Given the description of an element on the screen output the (x, y) to click on. 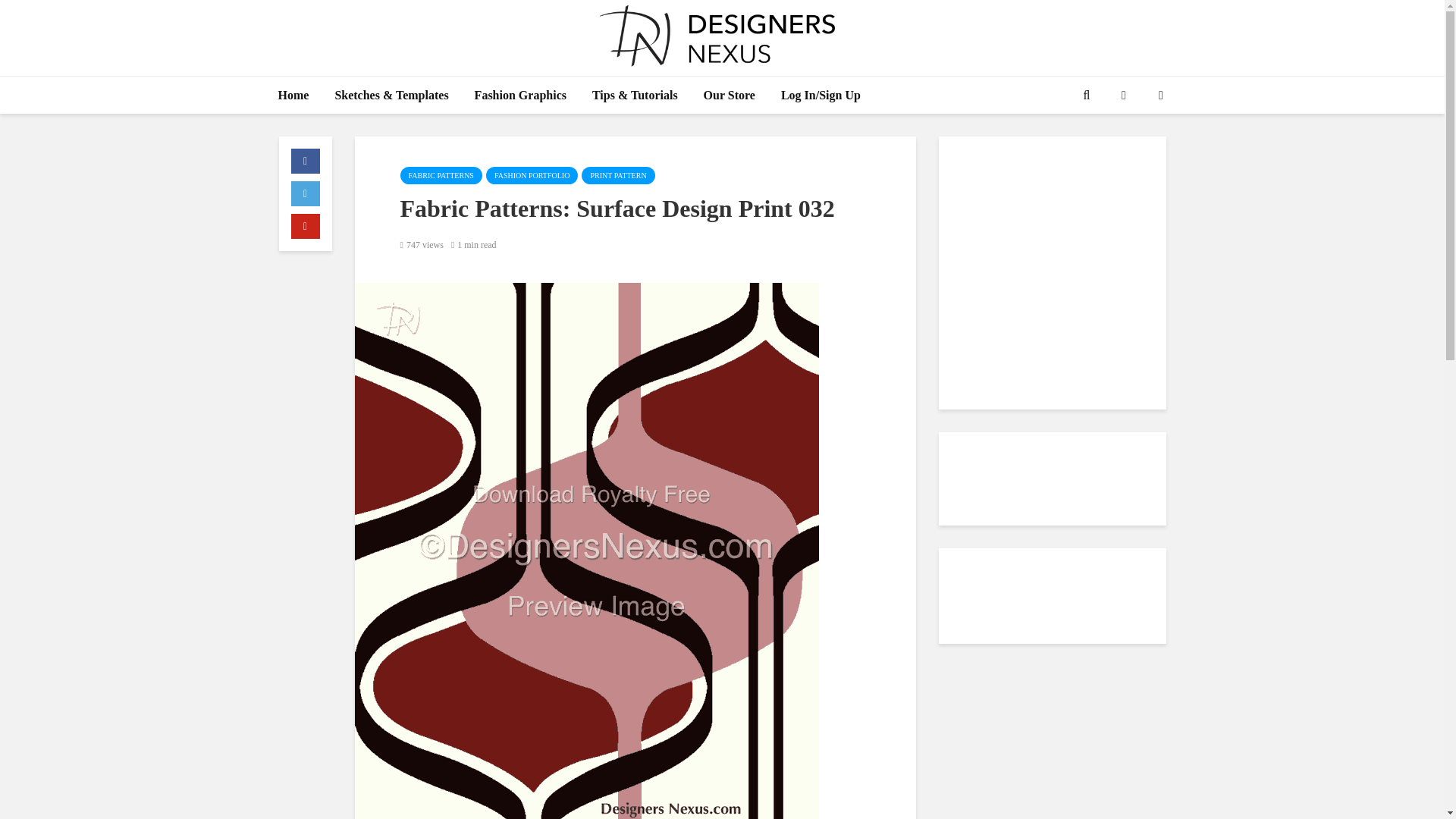
Home (293, 95)
Fashion Graphics (520, 95)
About fashion industry, tips and tutorials (634, 95)
Our Store (730, 95)
